Given the description of an element on the screen output the (x, y) to click on. 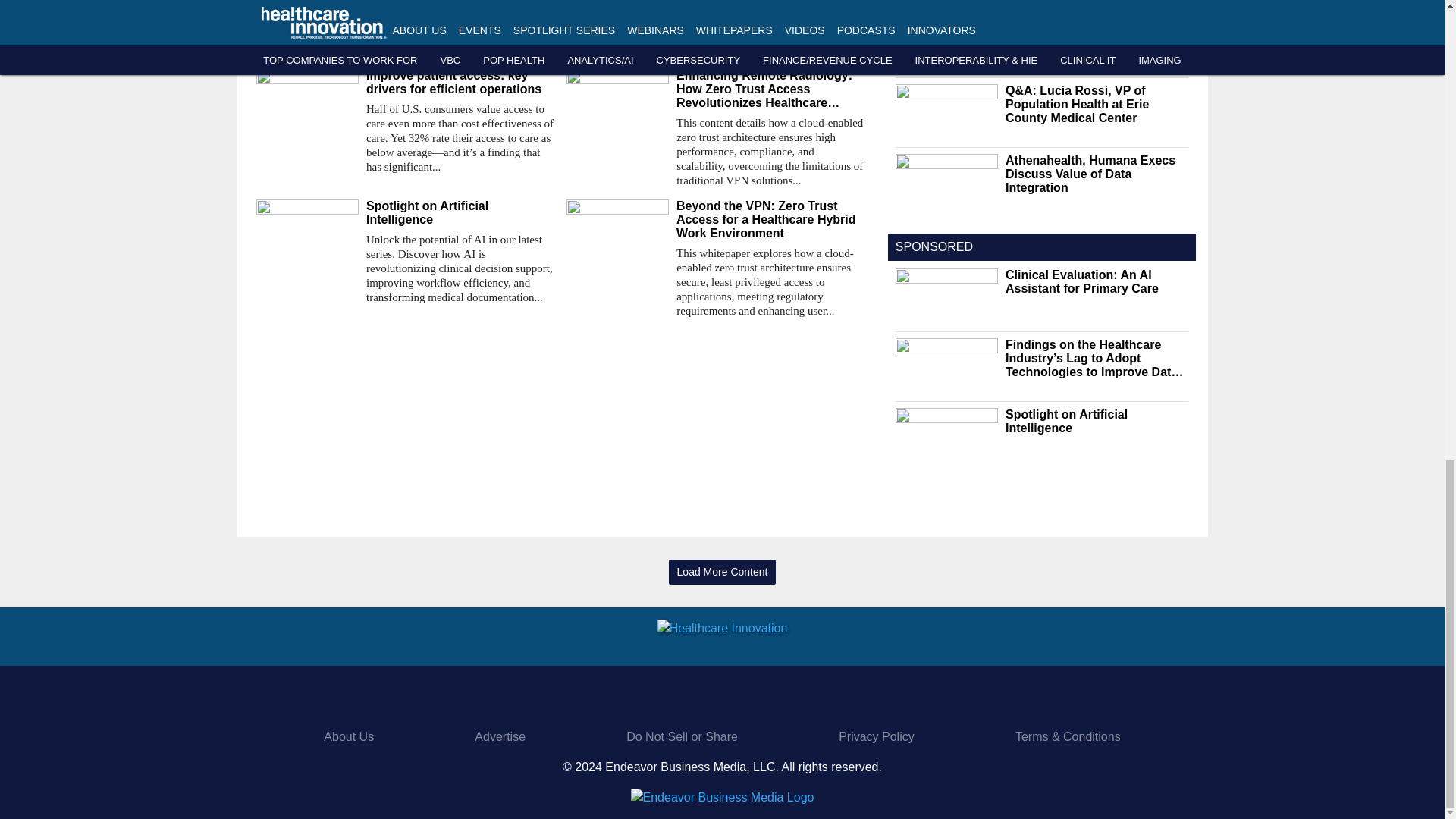
Spotlight on Artificial Intelligence (459, 212)
Improve patient access: key drivers for efficient operations (459, 82)
HIMSS24: Attendance Appears Equal to That of HIMSS23 (405, 7)
